Given the description of an element on the screen output the (x, y) to click on. 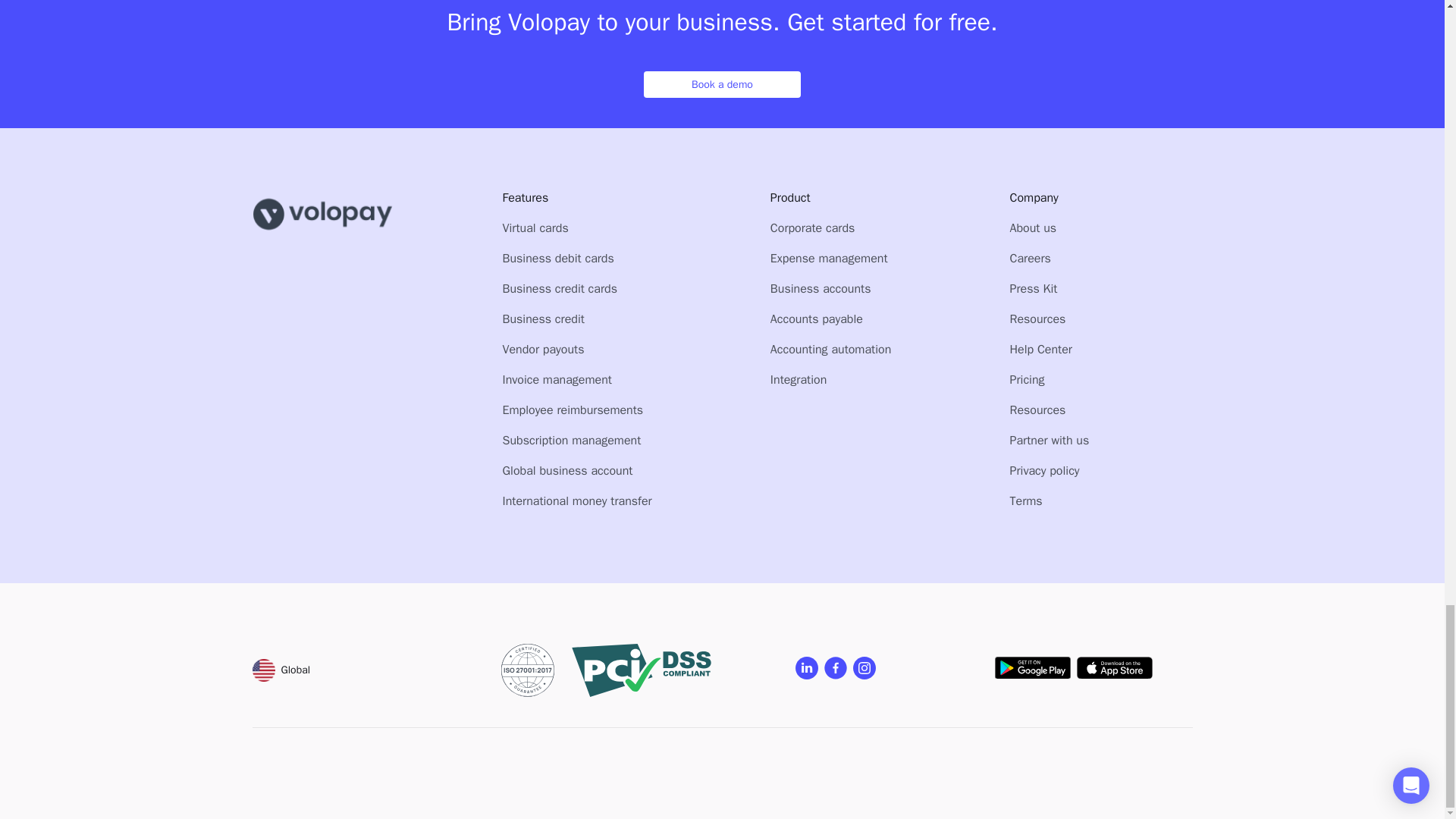
Subscription management (571, 440)
Accounting automation (830, 349)
Corporate cards (813, 227)
Accounts payable (816, 319)
Business accounts (820, 288)
Employee reimbursements (572, 409)
International money transfer (576, 500)
Global business account (566, 470)
Business debit cards (557, 258)
Business credit cards (558, 288)
Virtual cards (534, 227)
Expense management (829, 258)
Invoice management (556, 379)
Vendor payouts (542, 349)
Business credit (542, 319)
